Given the description of an element on the screen output the (x, y) to click on. 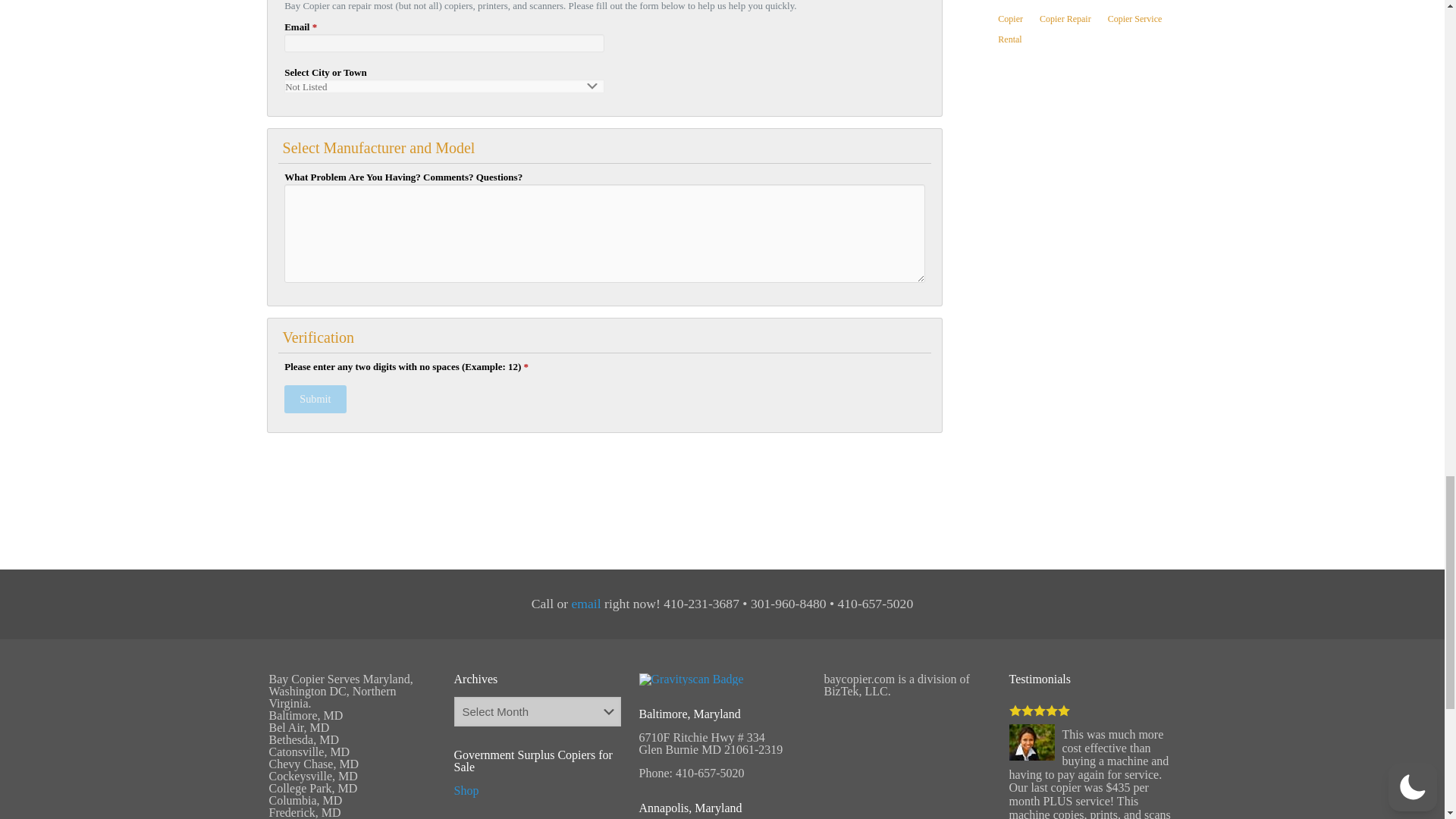
Submit (314, 398)
Submit (314, 398)
